Given the description of an element on the screen output the (x, y) to click on. 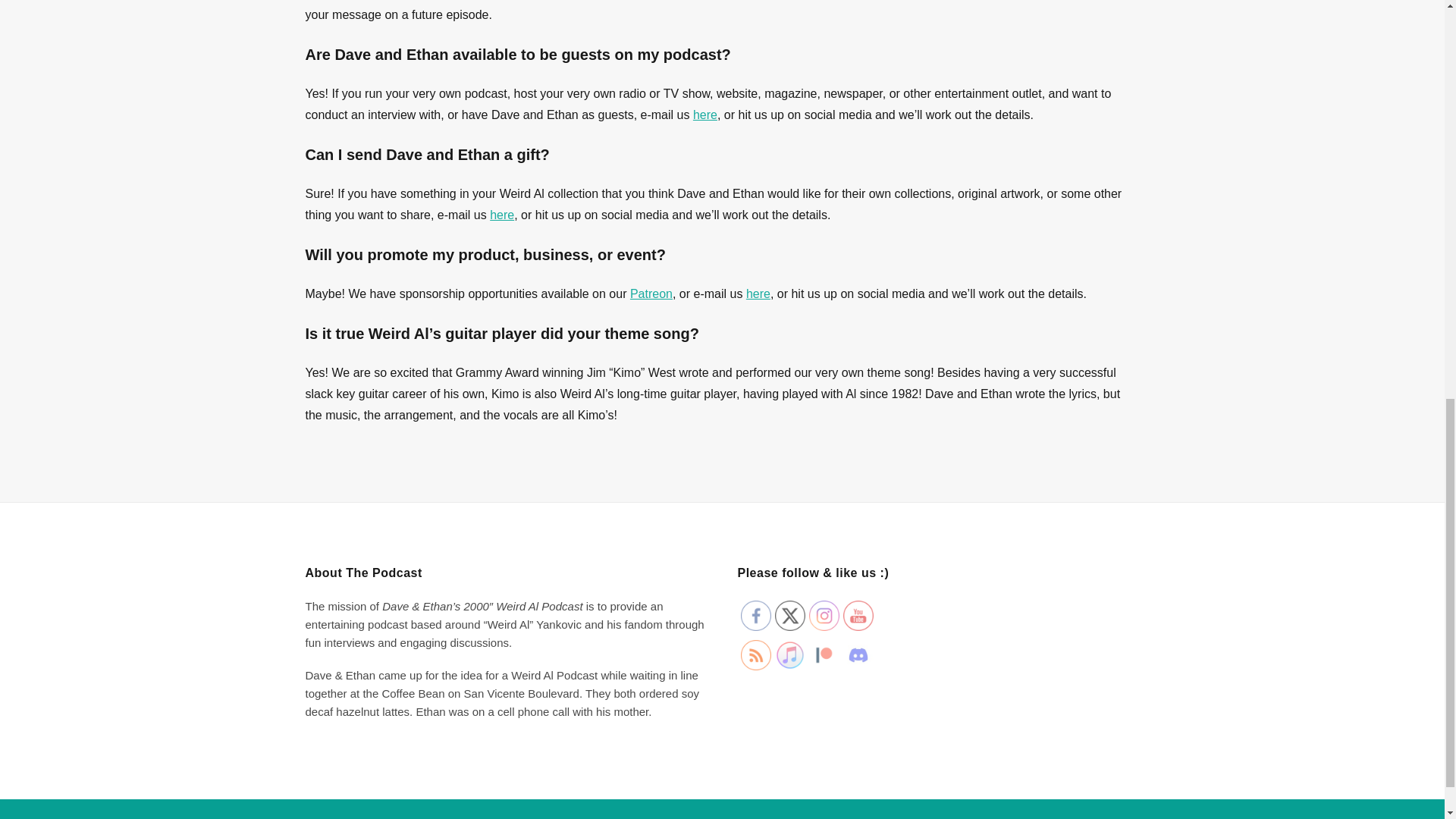
Instagram (823, 615)
Facebook (754, 615)
YouTube (858, 615)
Patreon (823, 654)
Apple Podcasts (789, 654)
RSS (754, 654)
Twitter (789, 615)
Discord (858, 654)
